Given the description of an element on the screen output the (x, y) to click on. 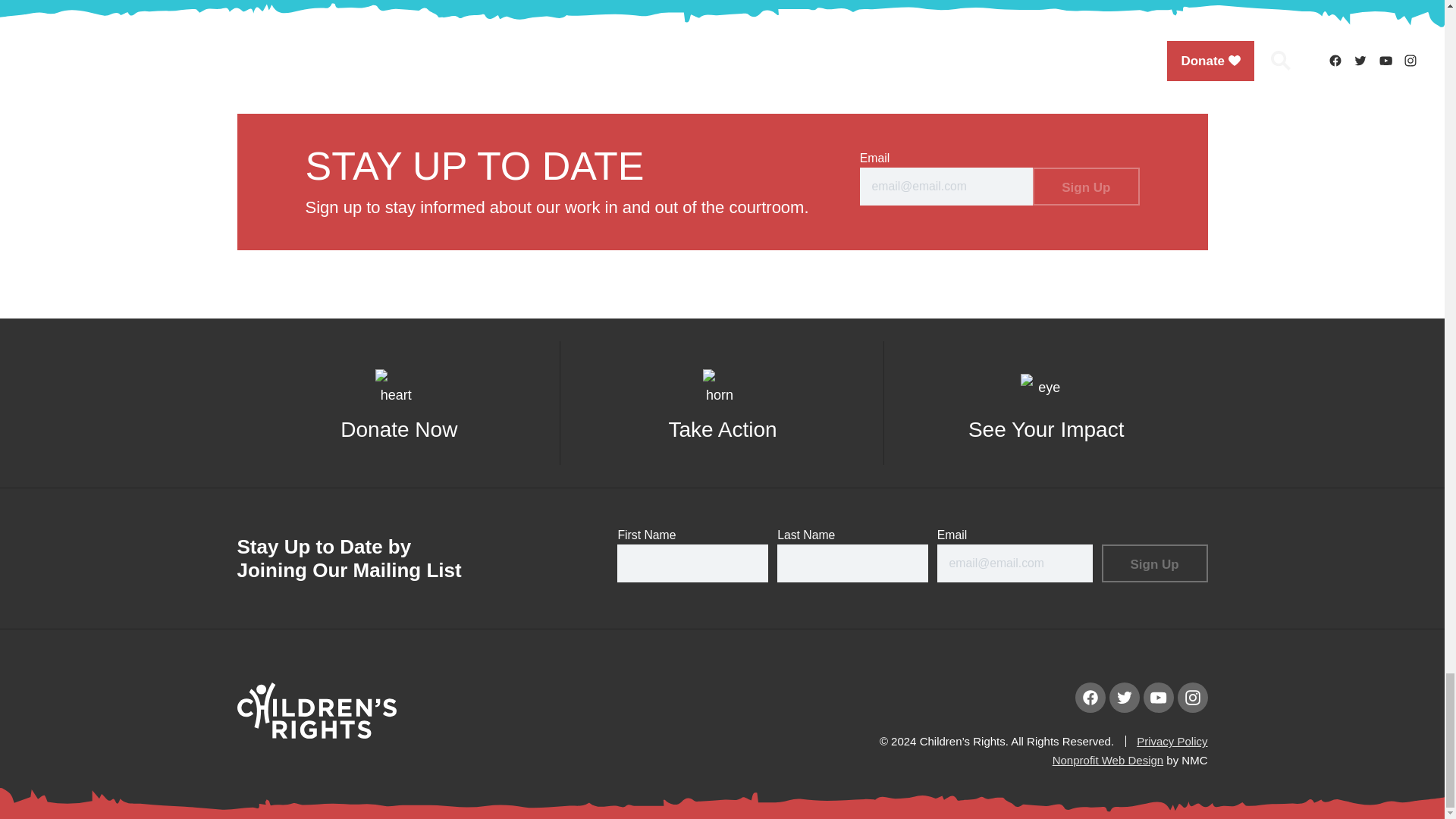
Sign Up (1085, 186)
Sign Up (1153, 563)
homepage (315, 734)
